Given the description of an element on the screen output the (x, y) to click on. 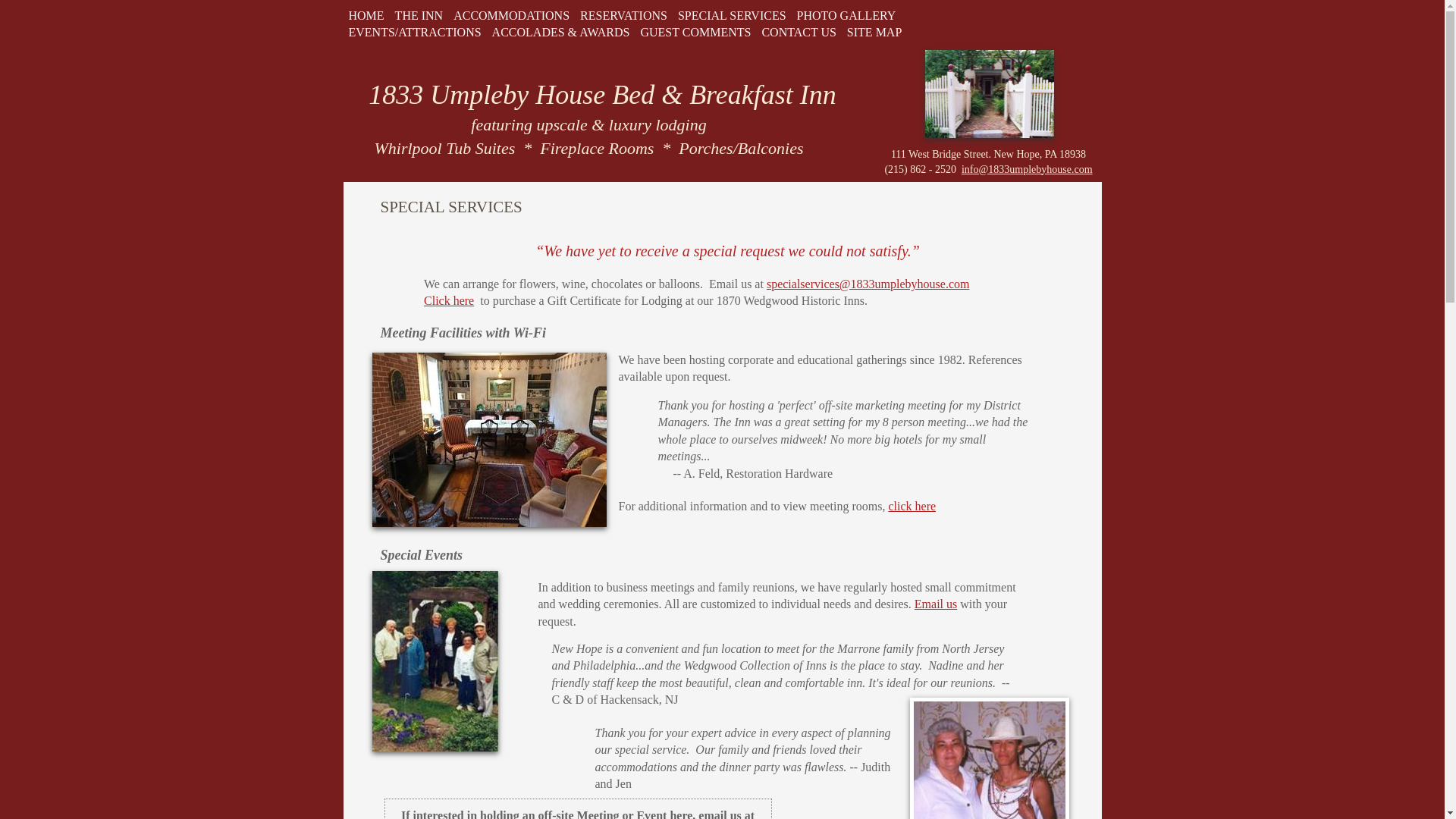
HOME Element type: text (365, 15)
Click here Element type: text (448, 300)
click here Element type: text (911, 505)
ACCOLADES & AWARDS Element type: text (560, 31)
CONTACT US Element type: text (798, 31)
ACCOMMODATIONS Element type: text (511, 15)
PHOTO GALLERY Element type: text (846, 15)
GUEST COMMENTS Element type: text (695, 31)
SPECIAL SERVICES Element type: text (731, 15)
SITE MAP Element type: text (873, 31)
Email us Element type: text (935, 603)
RESERVATIONS Element type: text (623, 15)
EVENTS/ATTRACTIONS Element type: text (414, 31)
info@1833umplebyhouse.com Element type: text (1026, 169)
specialservices@1833umplebyhouse.com Element type: text (867, 283)
THE INN Element type: text (418, 15)
